Given the description of an element on the screen output the (x, y) to click on. 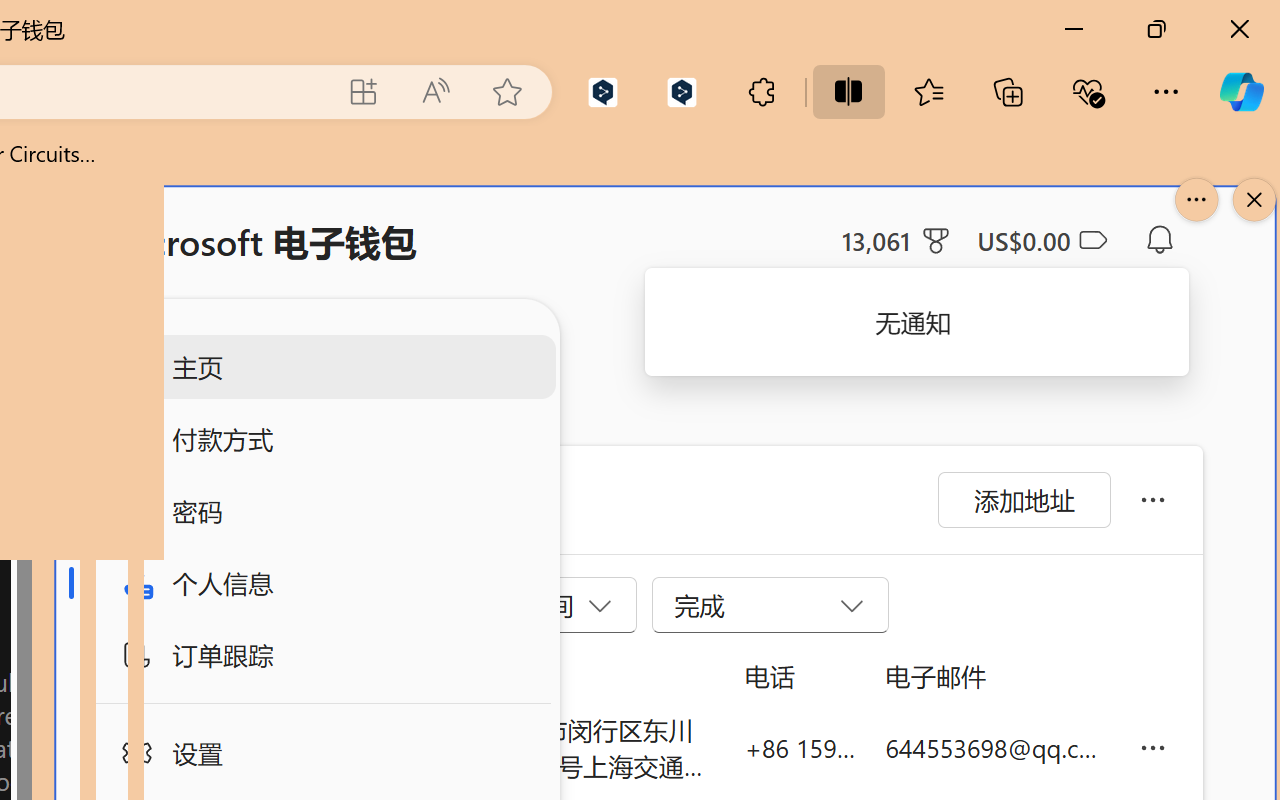
Class: ___1lmltc5 f1agt3bx f12qytpq (1092, 241)
+86 159 0032 4640 (799, 747)
